Given the description of an element on the screen output the (x, y) to click on. 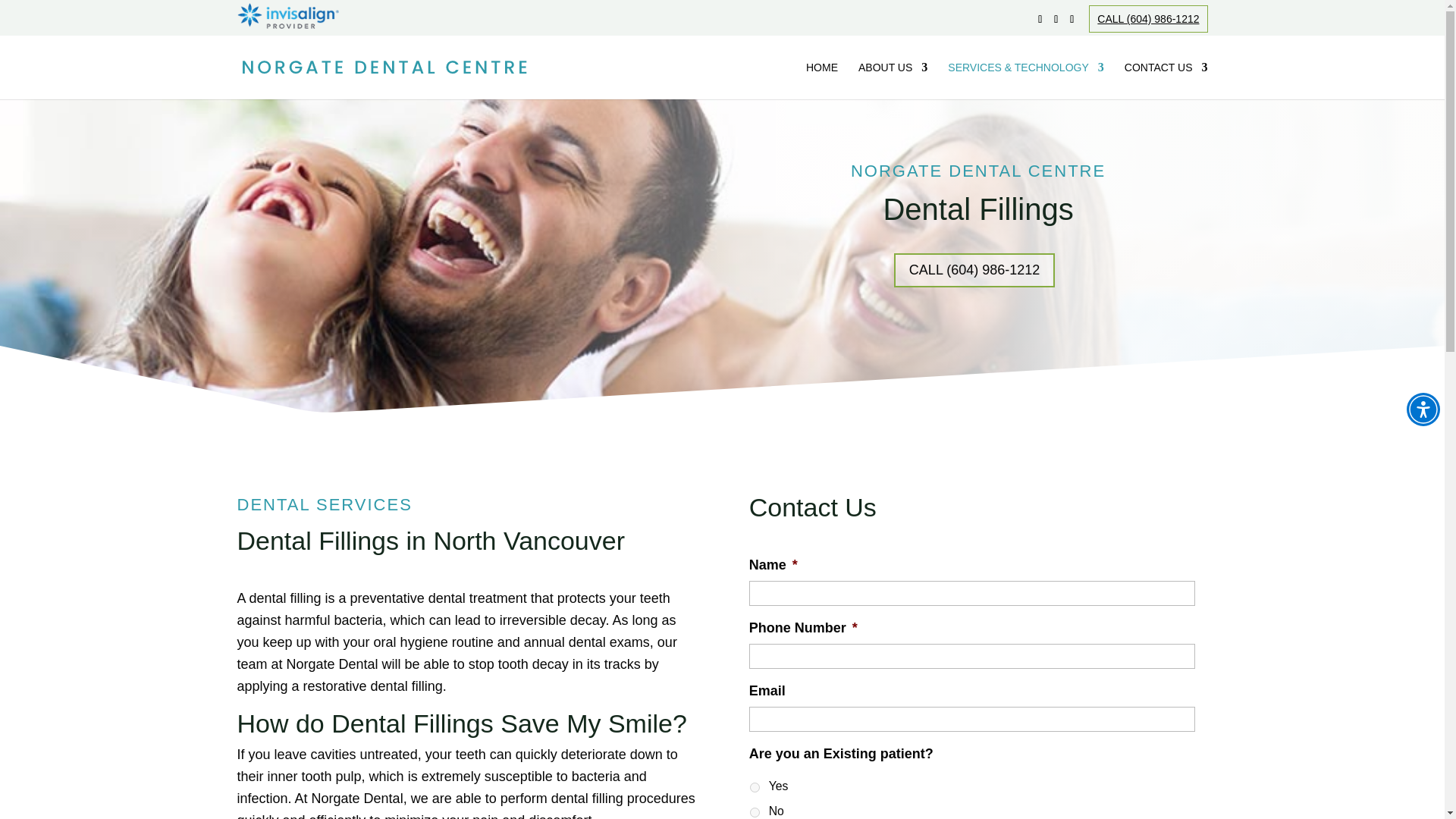
ABOUT US (893, 80)
Yes (754, 787)
Accessibility Menu (1422, 409)
No (754, 812)
